Given the description of an element on the screen output the (x, y) to click on. 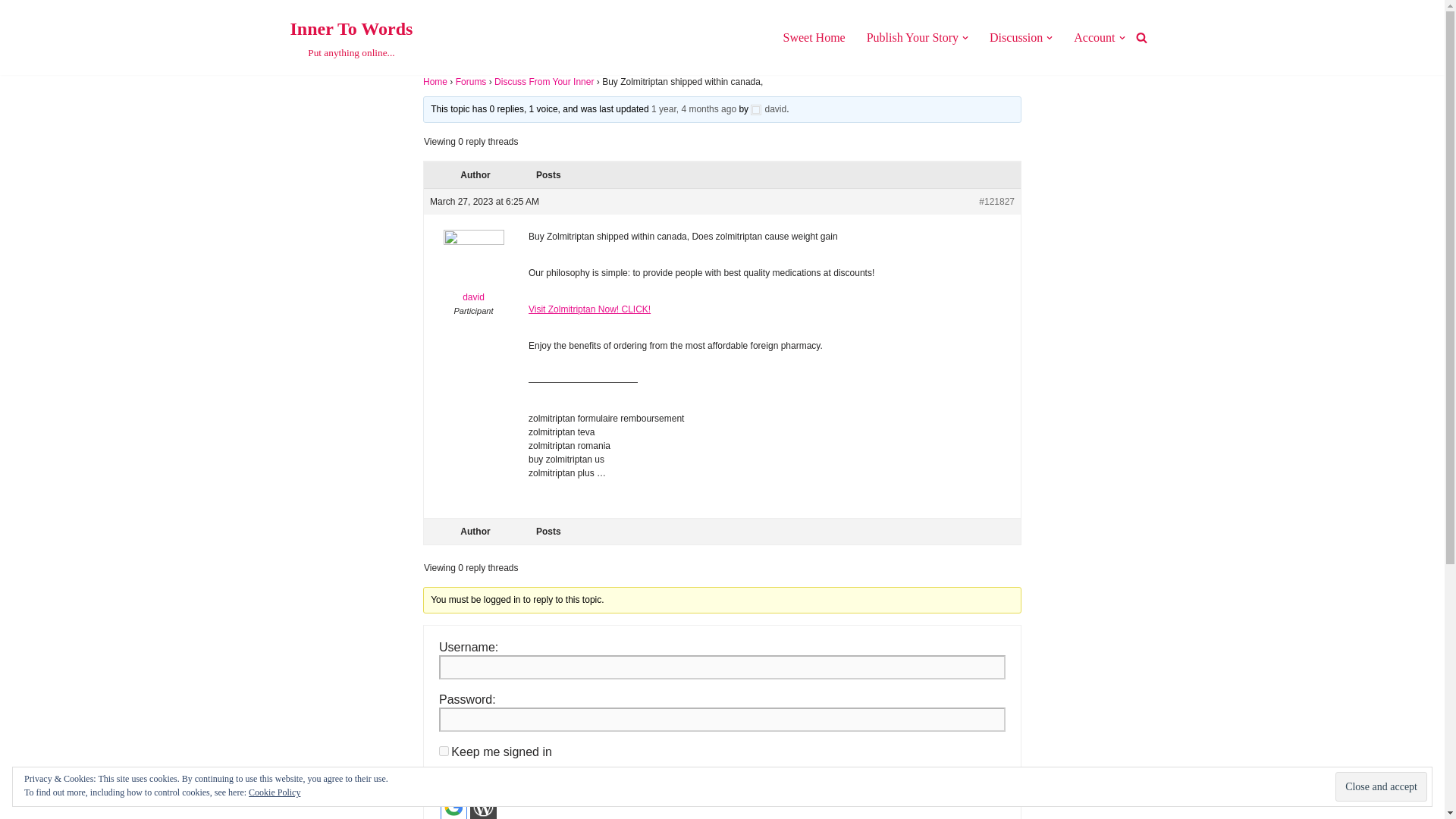
Discussion (1016, 37)
Buy Zolmitriptan shipped within canada, (693, 109)
Account (1094, 37)
Sweet Home (813, 37)
Publish Your Story (912, 37)
View david's profile (768, 109)
forever (443, 750)
Skip to content (11, 31)
Login with Wordpress (483, 806)
Close and accept (350, 37)
View david's profile (1380, 786)
Login with Google (472, 269)
